Given the description of an element on the screen output the (x, y) to click on. 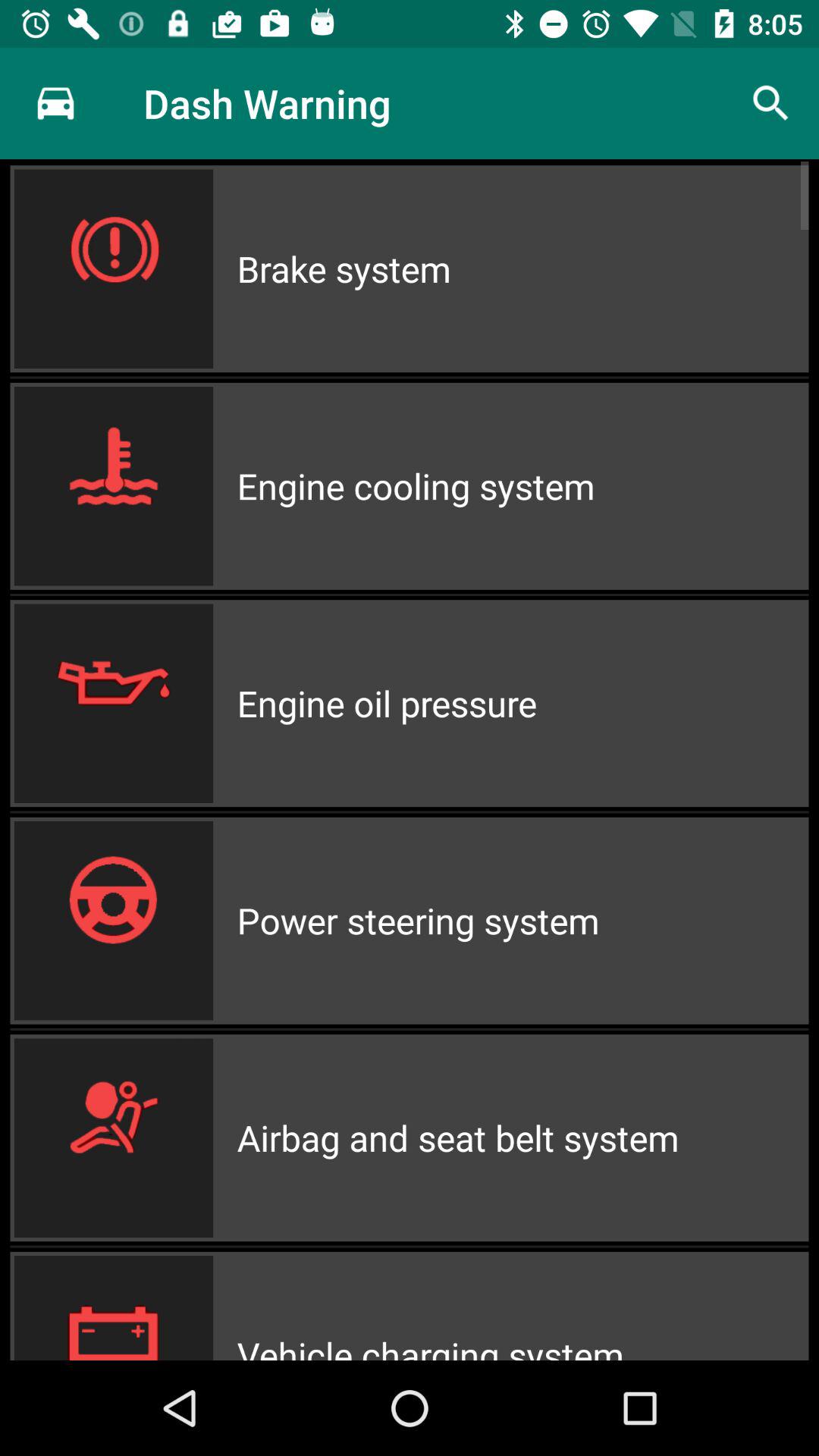
turn on the icon below the engine cooling system (522, 703)
